Given the description of an element on the screen output the (x, y) to click on. 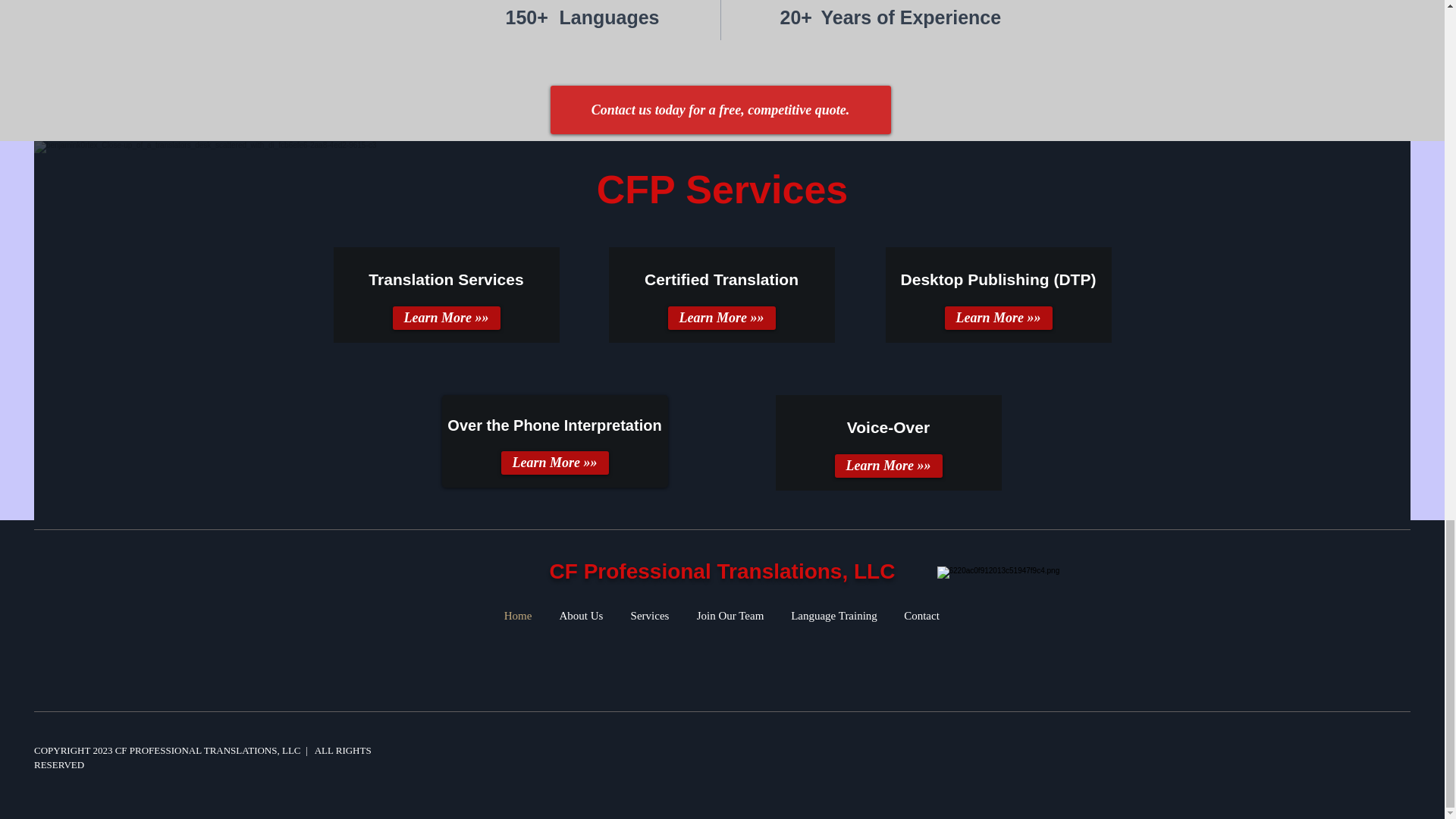
Home (516, 615)
Language Training (834, 615)
Contact (920, 615)
Services (649, 615)
Contact us today for a free, competitive quote. (720, 109)
About Us (581, 615)
Join Our Team (729, 615)
